Given the description of an element on the screen output the (x, y) to click on. 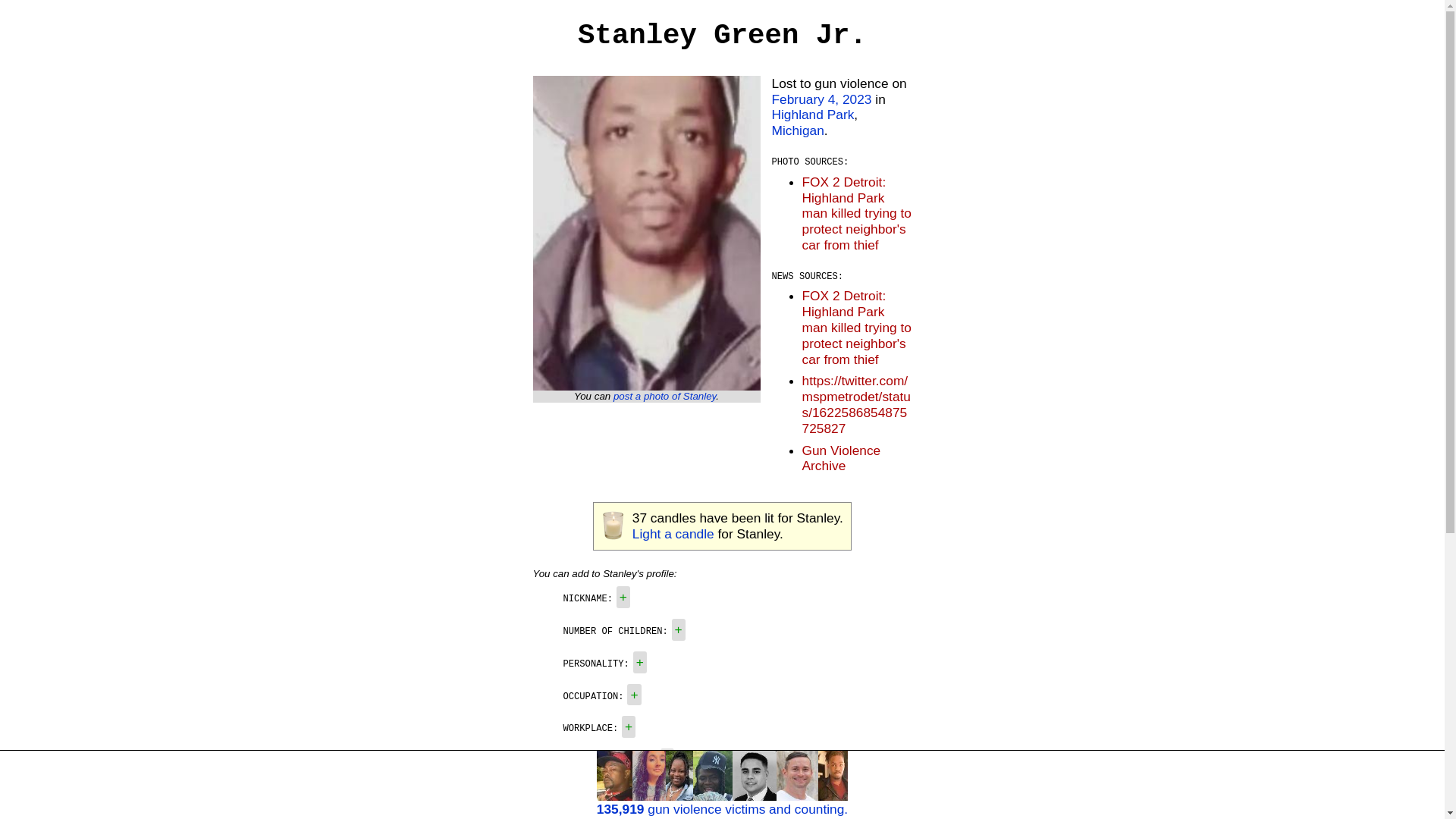
Gun Violence Archive (841, 458)
February 4, 2023 (821, 99)
3 (632, 792)
Highland Park (812, 114)
Light a candle (672, 533)
Michigan (797, 130)
post a photo of Stanley (664, 396)
